Given the description of an element on the screen output the (x, y) to click on. 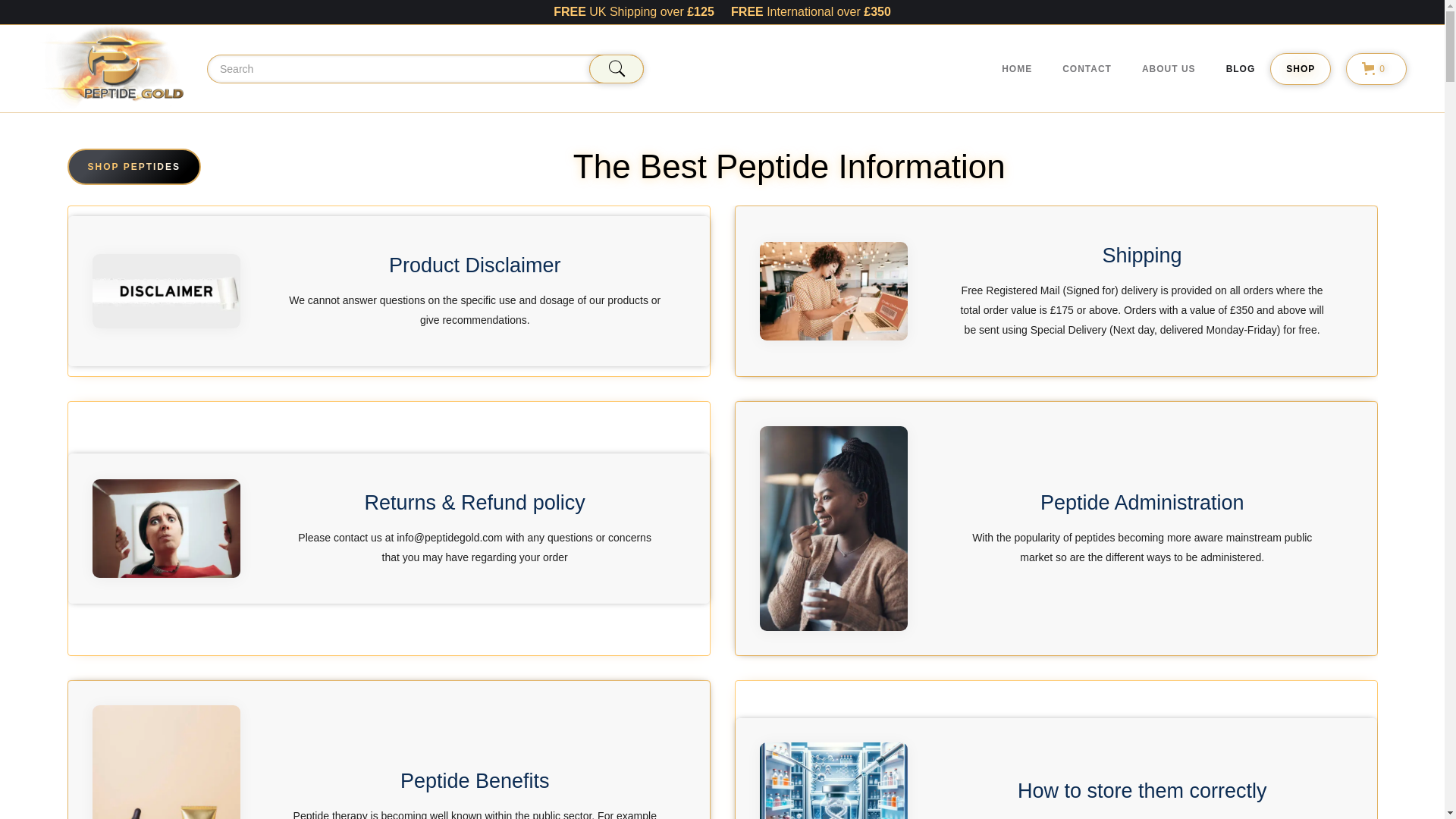
CONTACT (1086, 68)
ABOUT US (1168, 68)
SHOP PEPTIDES (133, 166)
BLOG (1241, 68)
0 (1375, 69)
HOME (1016, 68)
